Given the description of an element on the screen output the (x, y) to click on. 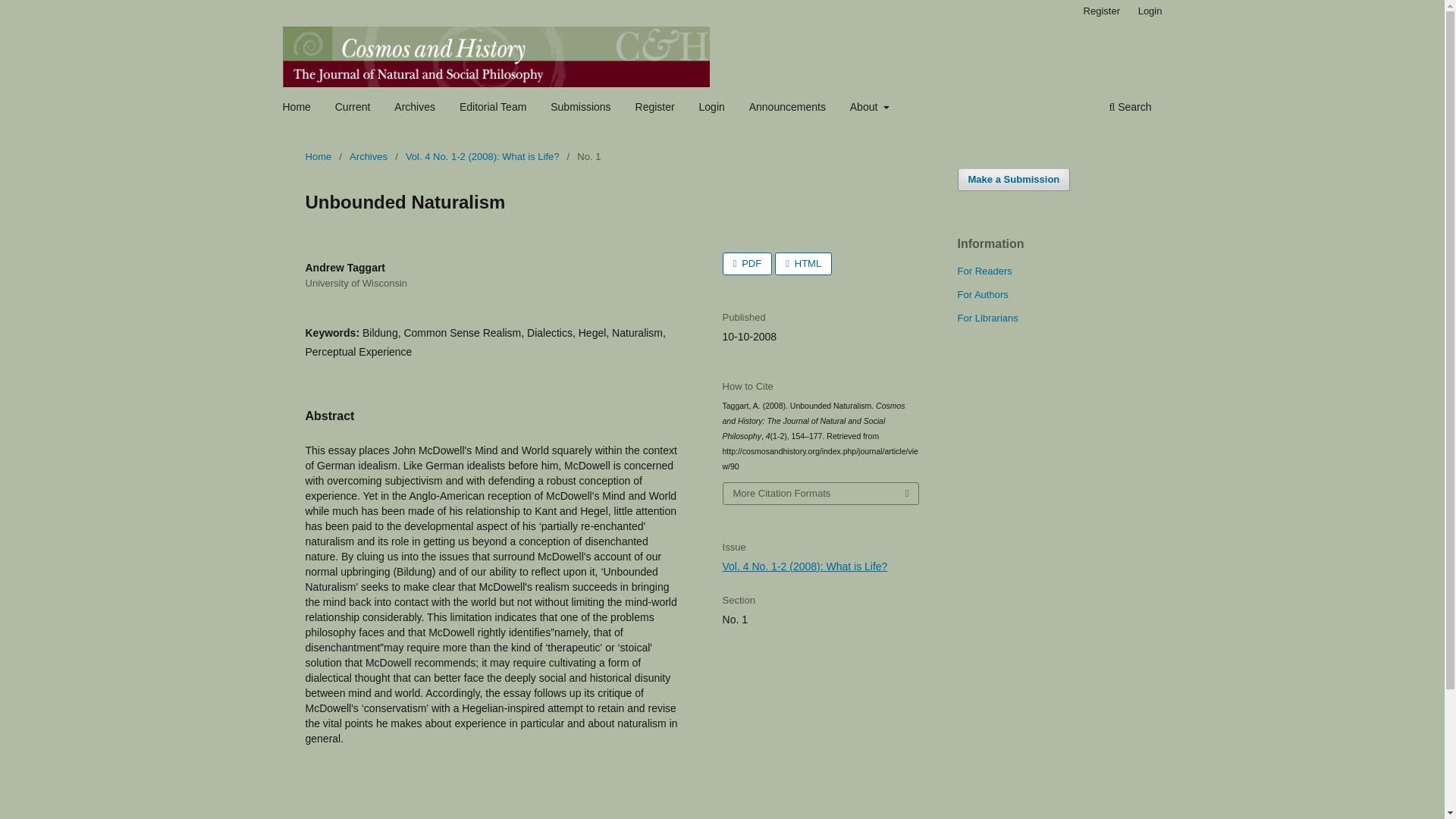
More Citation Formats (820, 493)
Archives (414, 108)
Editorial Team (492, 108)
Register (654, 108)
Register (1100, 11)
Home (296, 108)
PDF (747, 263)
Archives (368, 156)
Login (1150, 11)
Home (317, 156)
About (869, 108)
Announcements (787, 108)
Login (712, 108)
Search (1129, 108)
Current (352, 108)
